Given the description of an element on the screen output the (x, y) to click on. 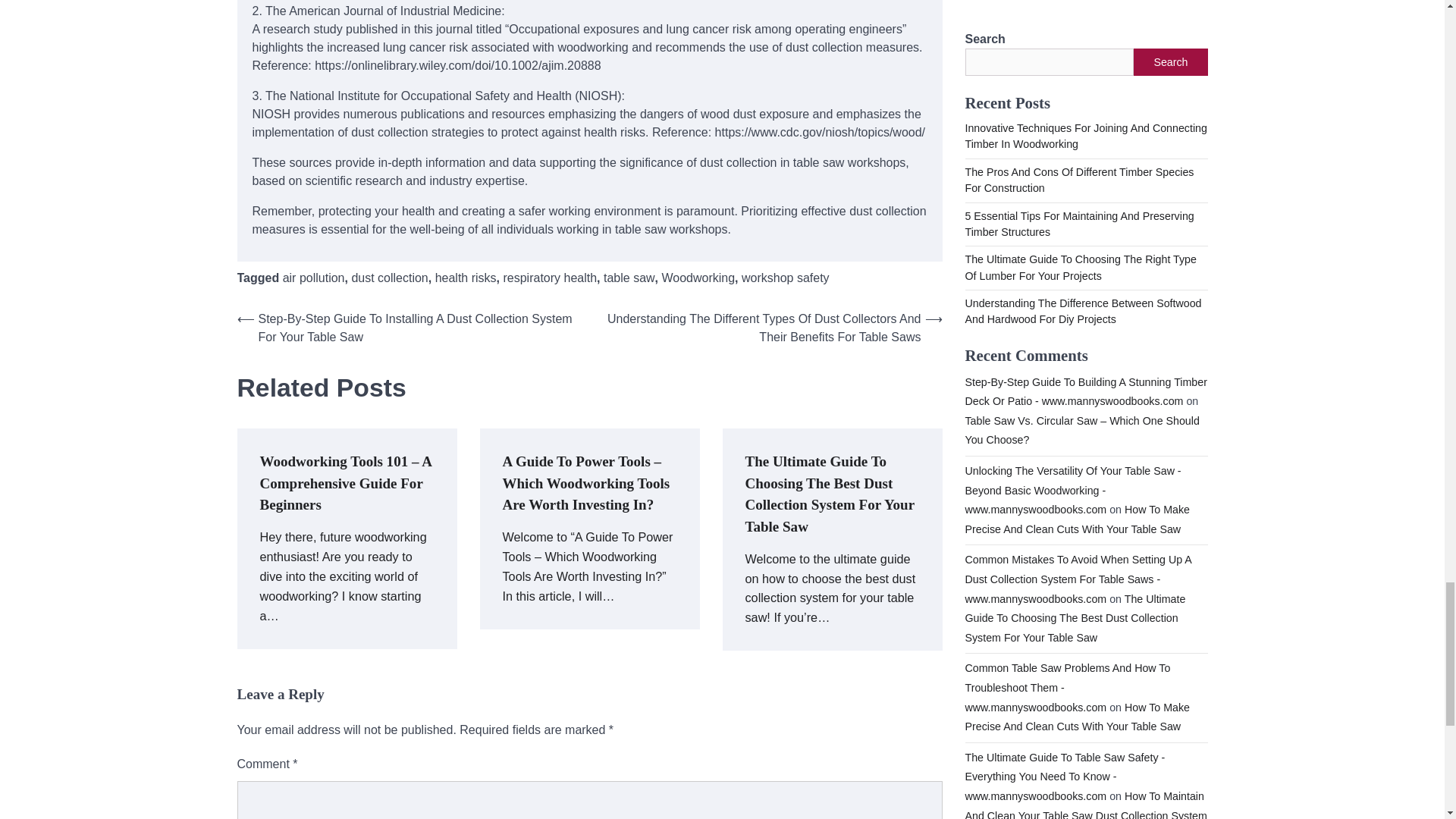
dust collection (389, 277)
respiratory health (549, 277)
workshop safety (785, 277)
air pollution (313, 277)
Woodworking (698, 277)
table saw (629, 277)
health risks (465, 277)
